Given the description of an element on the screen output the (x, y) to click on. 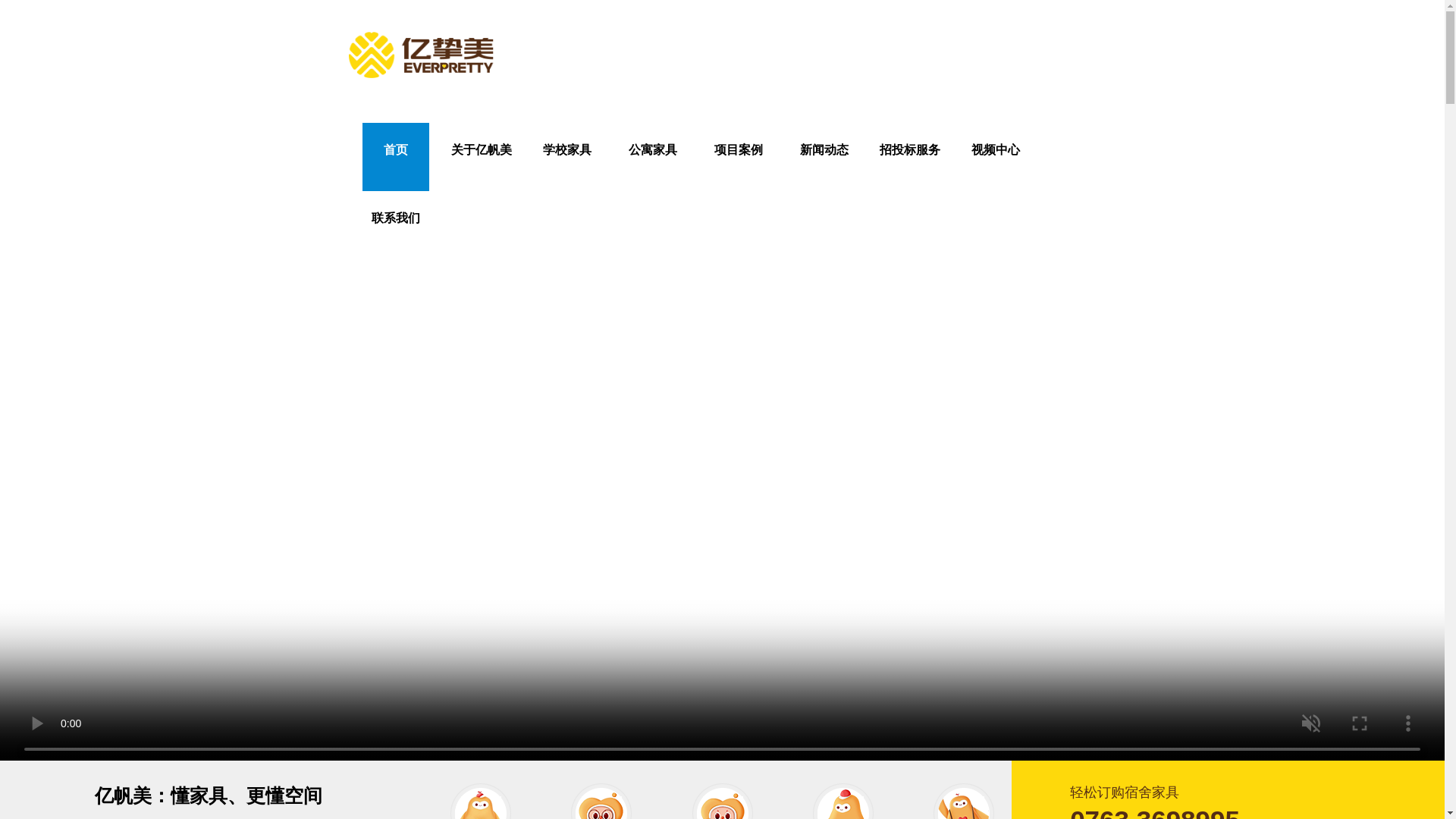
640bd196e3e60.png (480, 800)
640bd1c78e3aa.png (963, 800)
640bd2d792e0b.png (721, 800)
640bd1a2949fe.png (600, 800)
640bd2c792acd.png (842, 800)
